Given the description of an element on the screen output the (x, y) to click on. 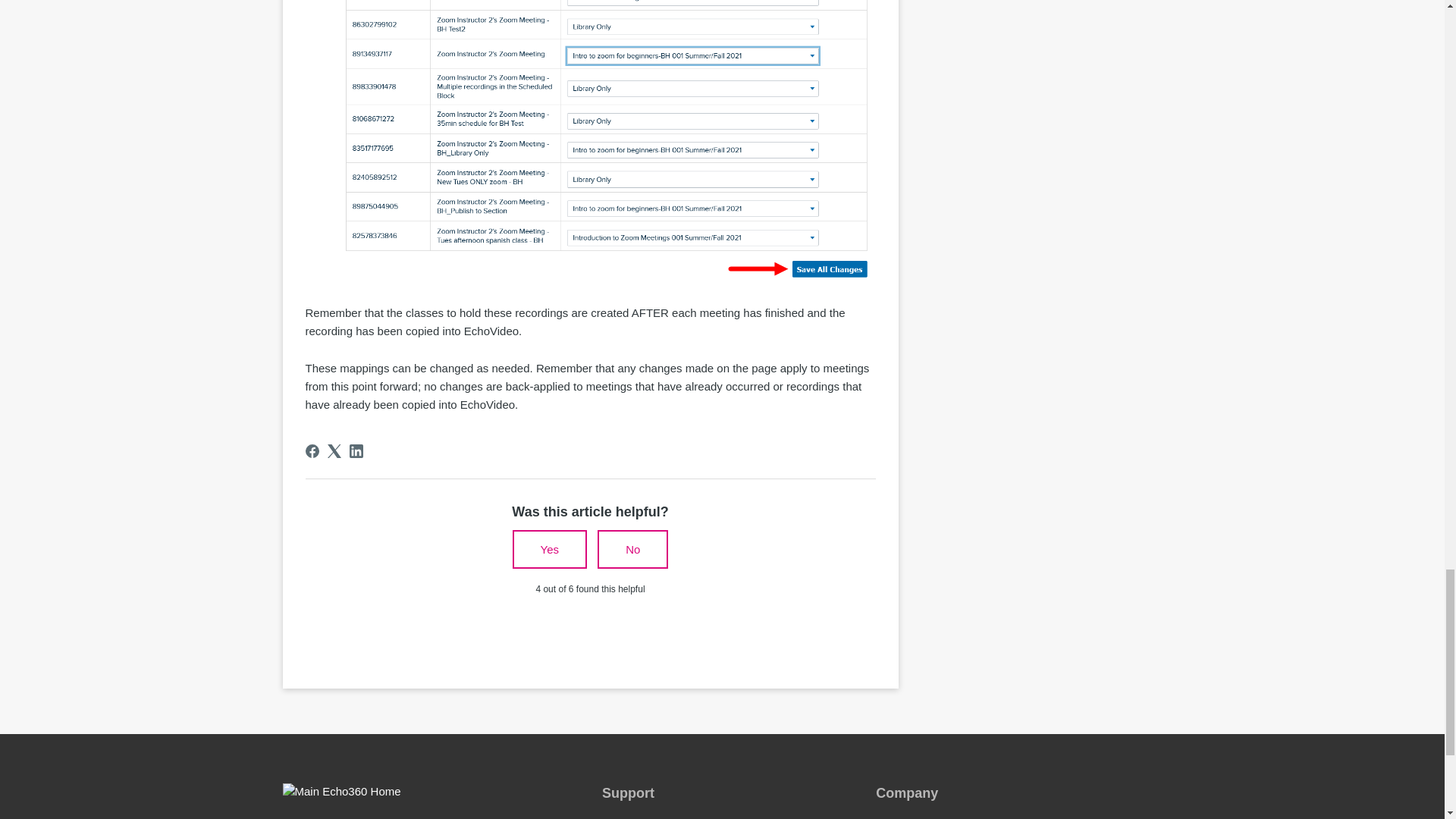
No (632, 548)
EchoVideo (629, 818)
Yes (549, 548)
